Given the description of an element on the screen output the (x, y) to click on. 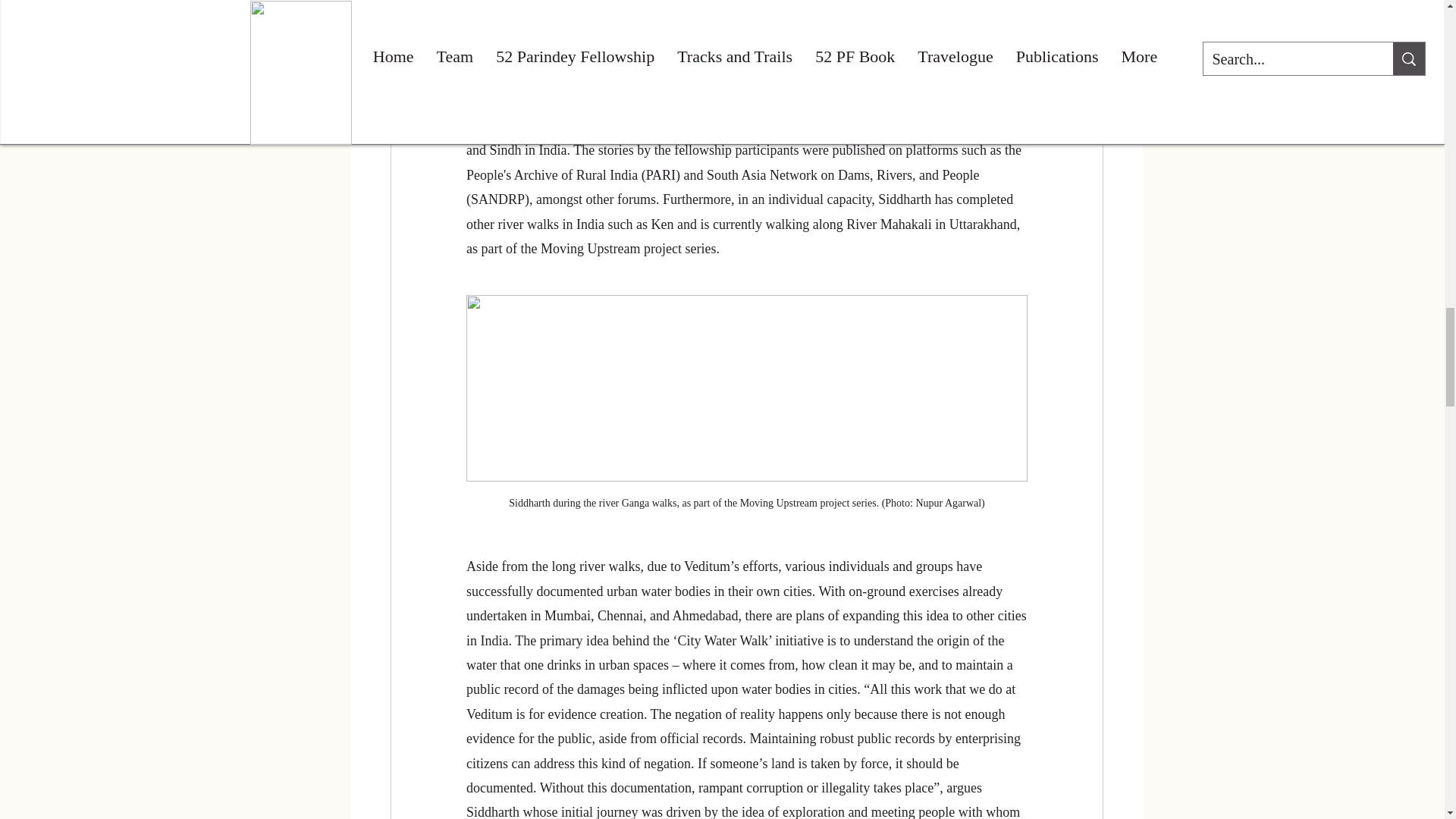
Out of Eden Walk (573, 52)
